Given the description of an element on the screen output the (x, y) to click on. 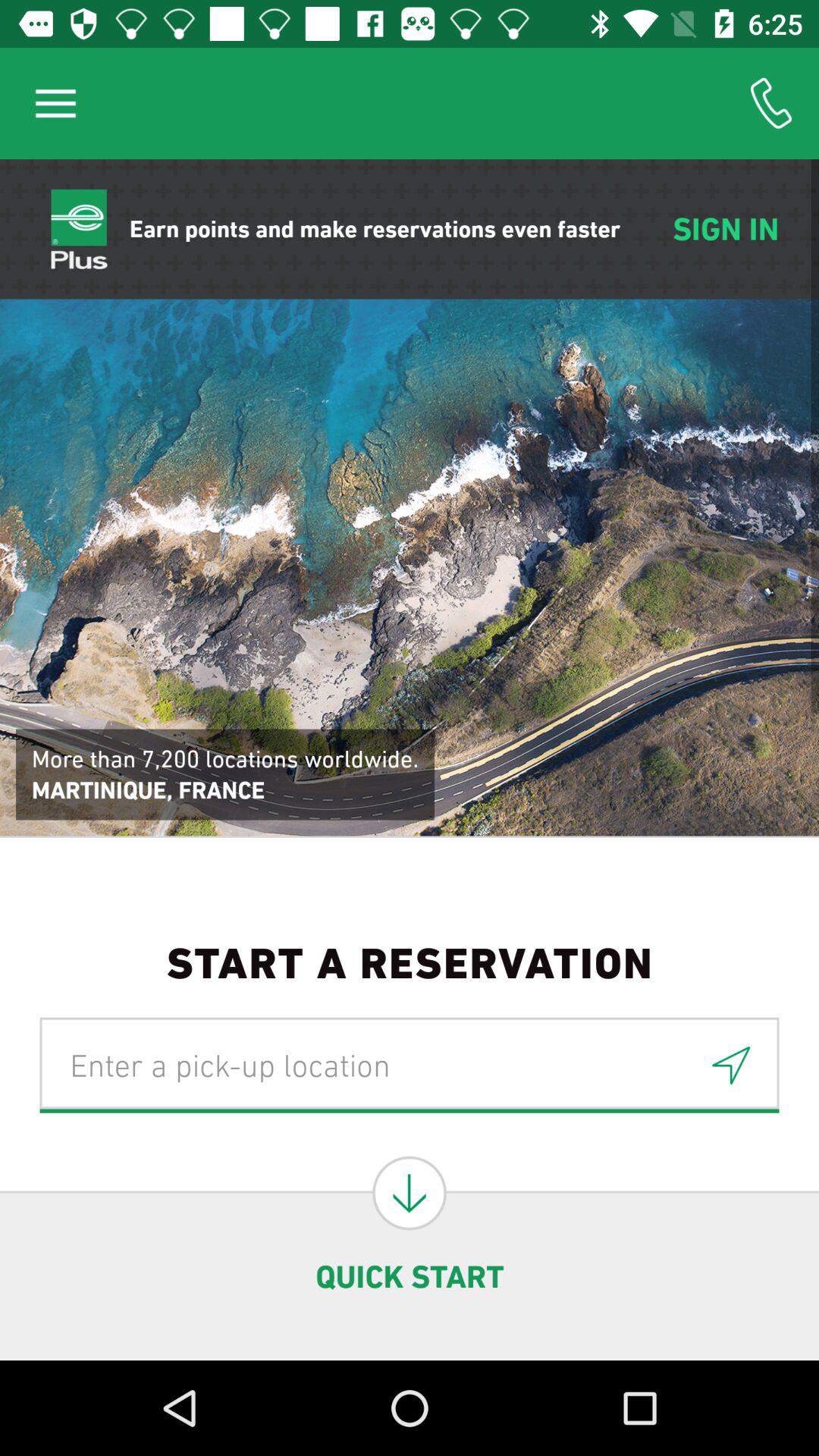
enter a pick-up location (409, 1065)
